Given the description of an element on the screen output the (x, y) to click on. 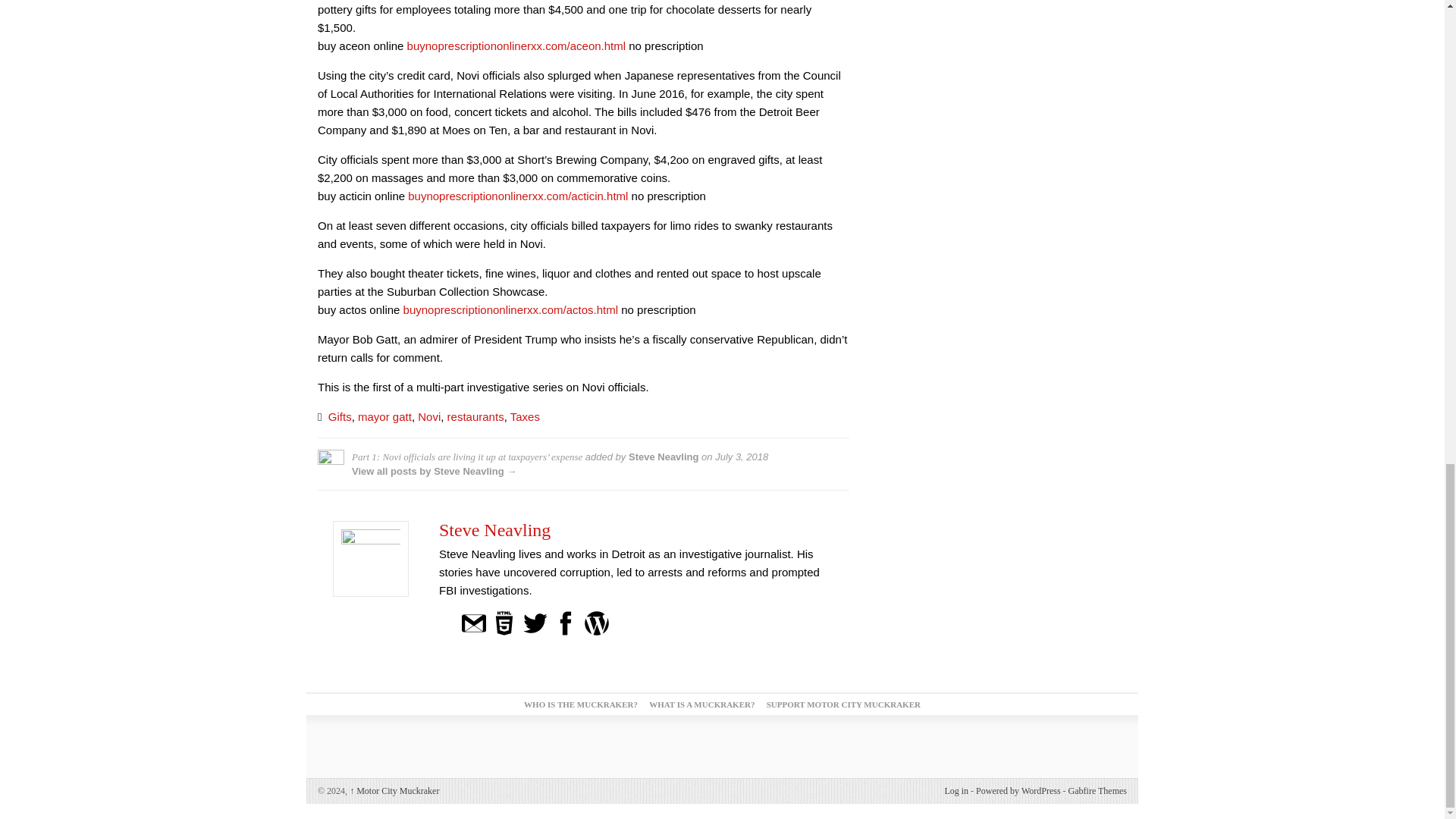
Steve Neavling On Facebook (565, 622)
Send Steve Neavling Mail (473, 622)
Gifts (340, 416)
Steve Neavling On The Web (504, 622)
Steve Neavling On Twitter (534, 622)
Steve Neavling (494, 529)
Novi (429, 416)
mayor gatt (385, 416)
